Given the description of an element on the screen output the (x, y) to click on. 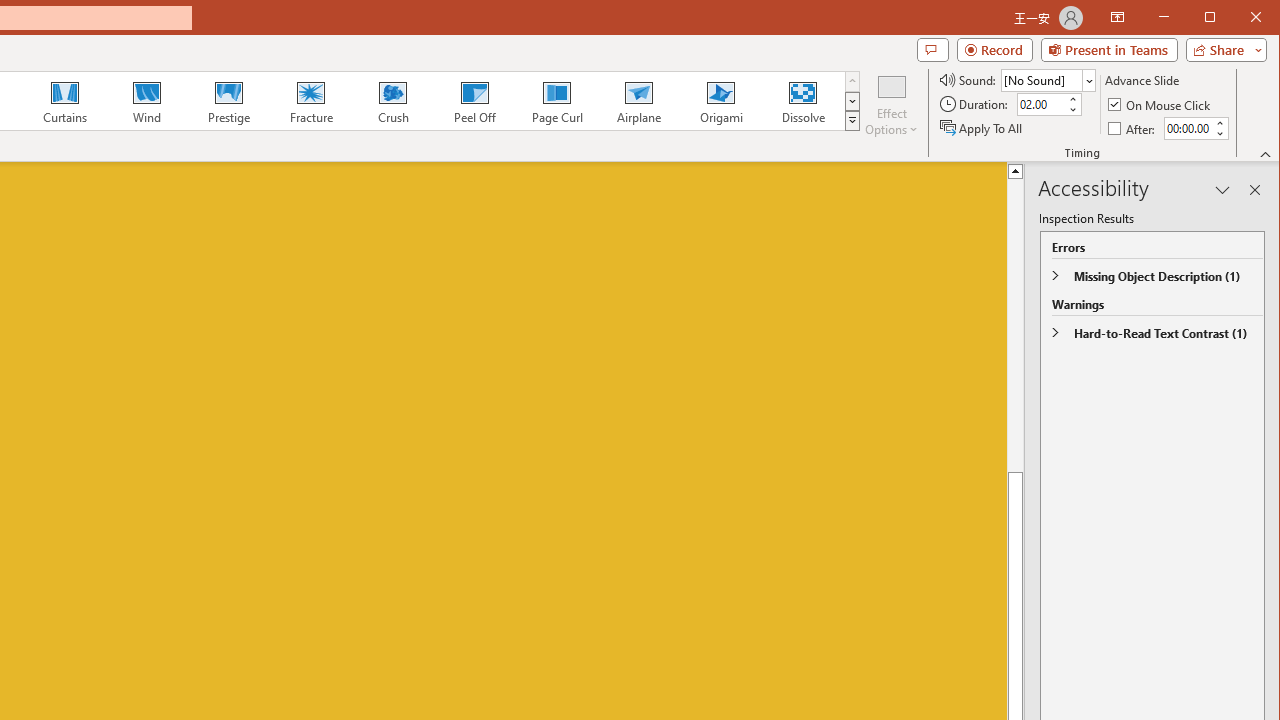
Prestige (229, 100)
After (1133, 127)
Fracture (311, 100)
